Given the description of an element on the screen output the (x, y) to click on. 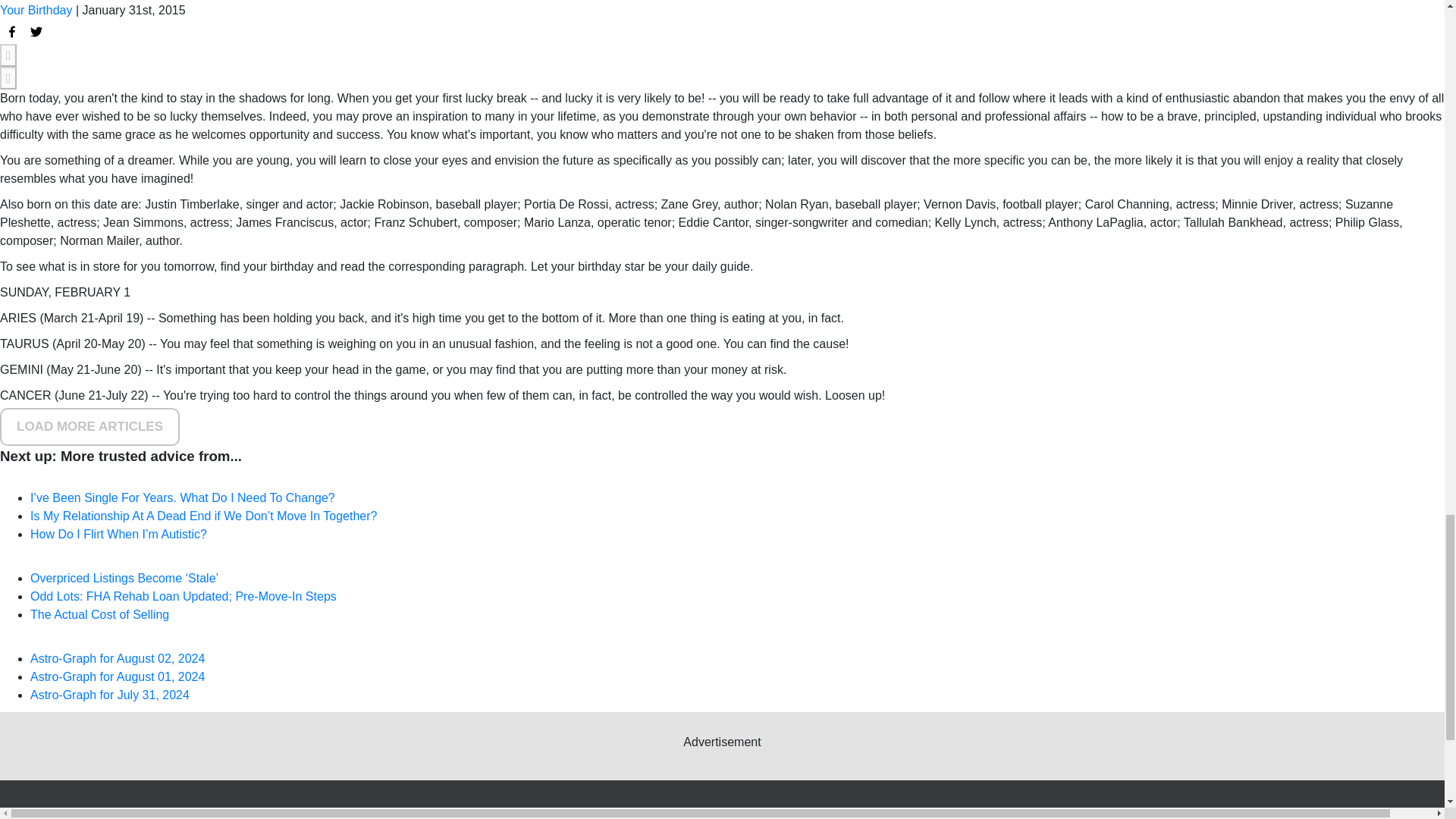
Your Birthday for January 31, 2015 (12, 31)
Astro-Graph for July 31, 2024 (109, 694)
LOAD MORE ARTICLES (89, 426)
Odd Lots: FHA Rehab Loan Updated; Pre-Move-In Steps (183, 595)
Astro-Graph for August 02, 2024 (117, 658)
Your Birthday (35, 10)
The Actual Cost of Selling (99, 614)
Astro-Graph for August 01, 2024 (117, 676)
